Given the description of an element on the screen output the (x, y) to click on. 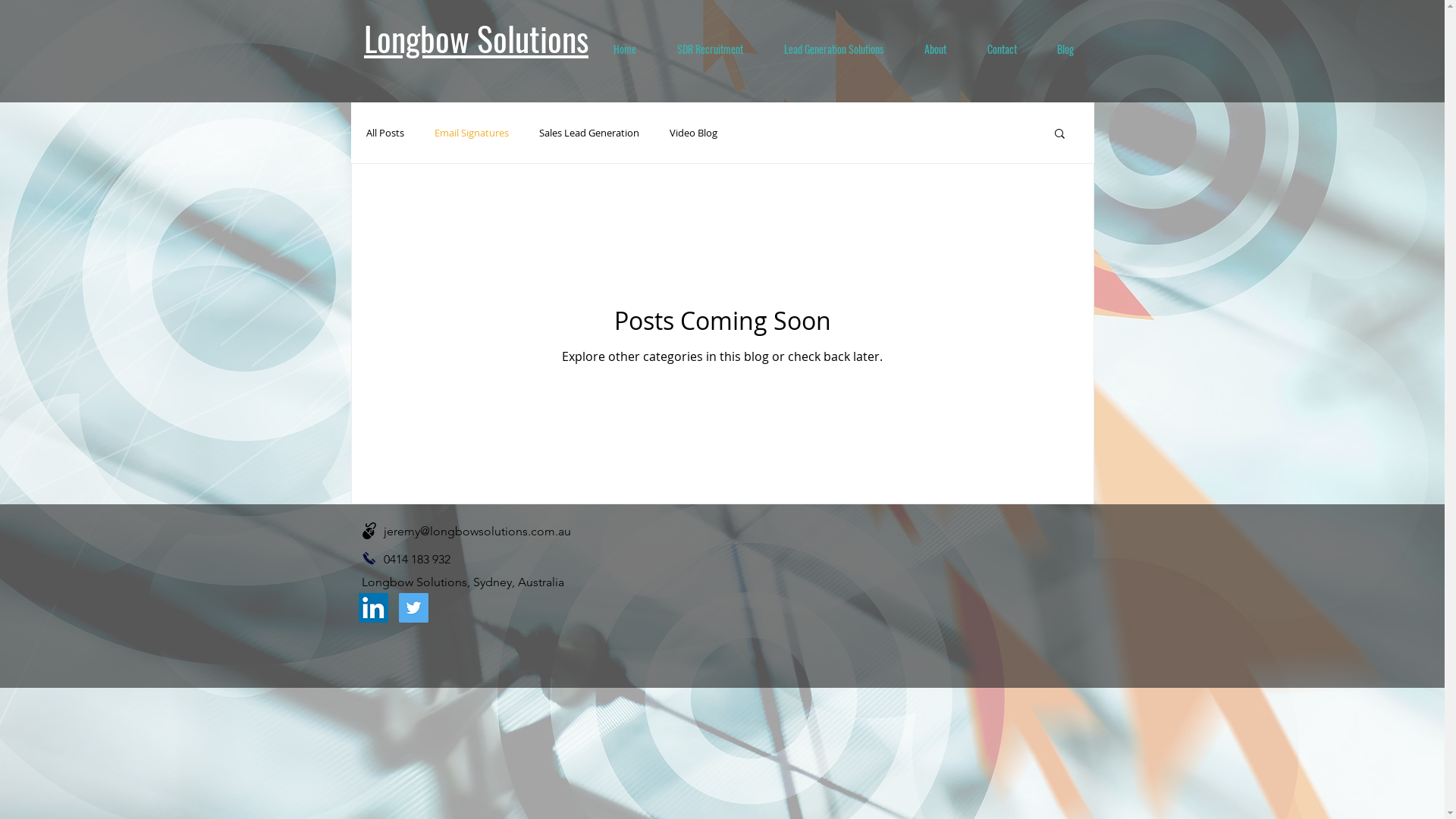
Contact Element type: text (1001, 48)
Video Blog Element type: text (692, 132)
Sales Lead Generation Element type: text (588, 132)
Blog Element type: text (1065, 48)
jeremy@longbowsolutions.com.au Element type: text (477, 531)
Lead Generation Solutions Element type: text (832, 48)
All Posts Element type: text (384, 132)
About Element type: text (934, 48)
Home Element type: text (624, 48)
Email Signatures Element type: text (470, 132)
SDR Recruitment Element type: text (709, 48)
